Given the description of an element on the screen output the (x, y) to click on. 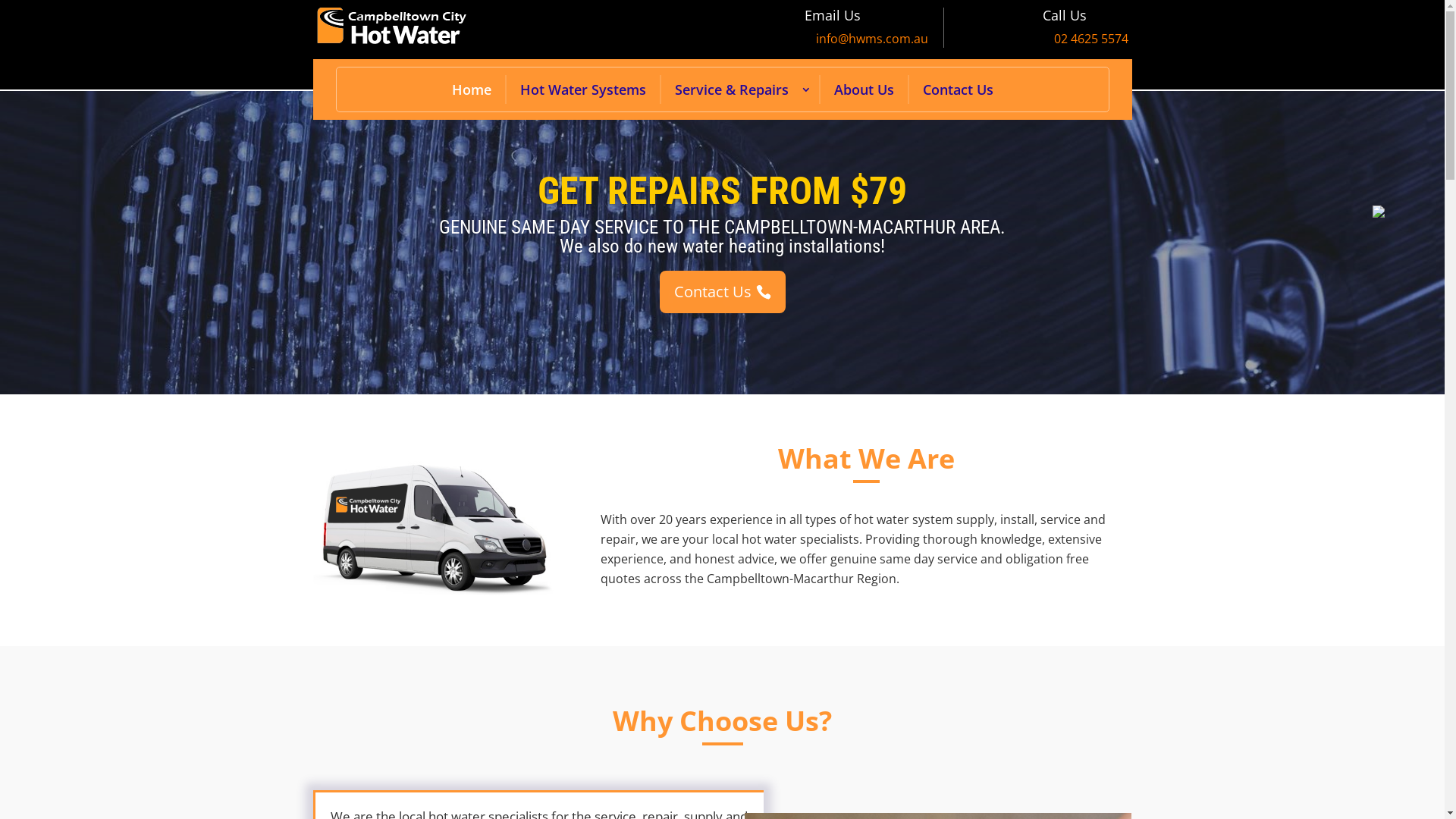
02 4625 5574 Element type: text (1091, 38)
Contact Us Element type: text (957, 89)
GET REPAIRS FROM $79 Element type: text (721, 191)
Contact Us Element type: text (722, 291)
info@hwms.com.au Element type: text (871, 38)
Home Element type: text (471, 89)
Service & Repairs Element type: text (731, 89)
About Us Element type: text (864, 89)
Hot Water Systems Element type: text (583, 89)
